Given the description of an element on the screen output the (x, y) to click on. 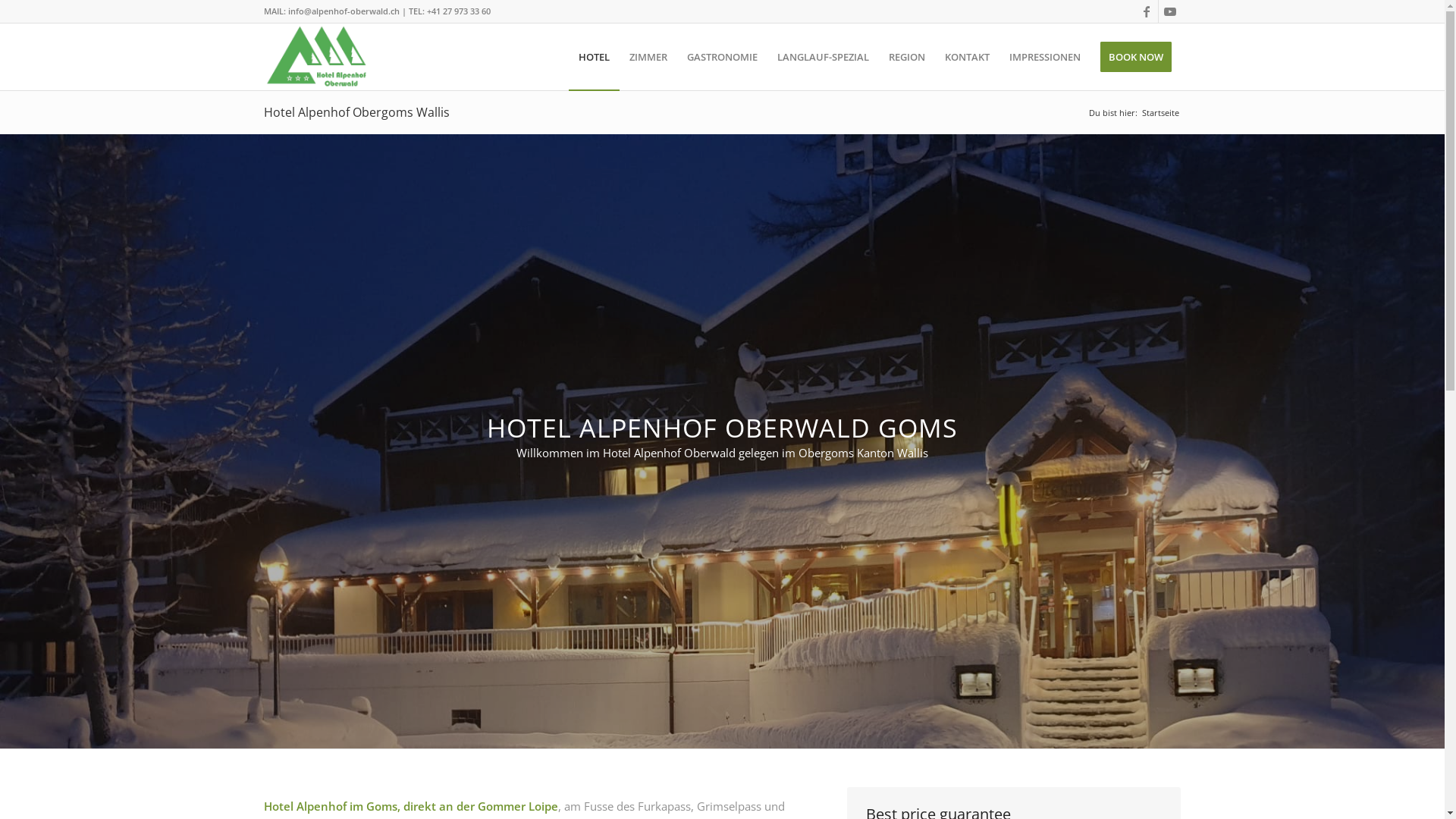
GASTRONOMIE Element type: text (721, 56)
LANGLAUF-SPEZIAL Element type: text (822, 56)
HOTEL Element type: text (593, 56)
Facebook Element type: hover (1146, 11)
REGION Element type: text (906, 56)
IMPRESSIONEN Element type: text (1044, 56)
Youtube Element type: hover (1169, 11)
ZIMMER Element type: text (647, 56)
KONTAKT Element type: text (966, 56)
BOOK NOW Element type: text (1135, 56)
Hotel Alpenhof Obergoms Wallis Element type: text (356, 111)
